Given the description of an element on the screen output the (x, y) to click on. 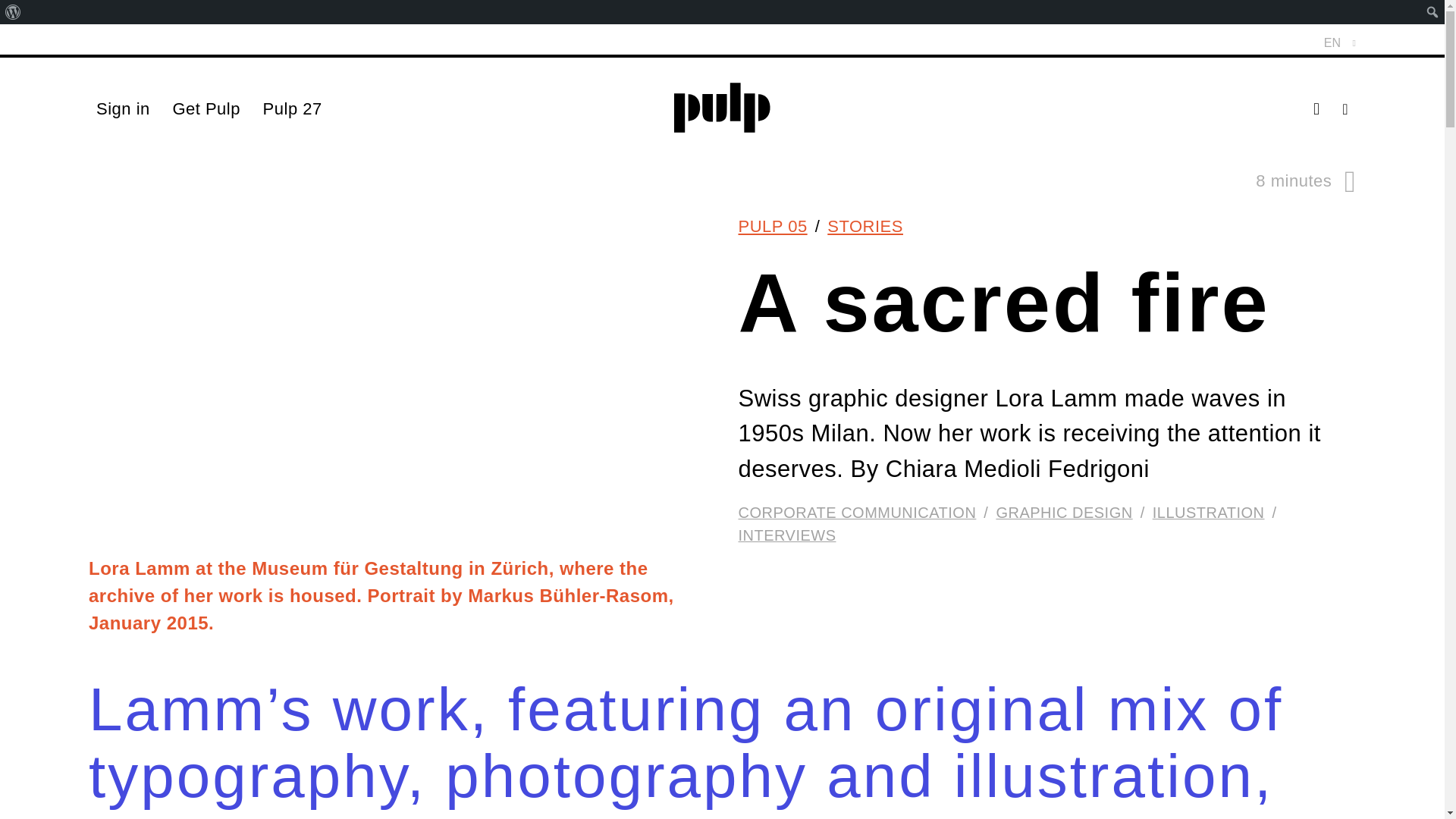
EN (1337, 43)
Search (16, 13)
Sign in (122, 109)
Get Pulp (205, 109)
Pulp 27 (293, 109)
